Given the description of an element on the screen output the (x, y) to click on. 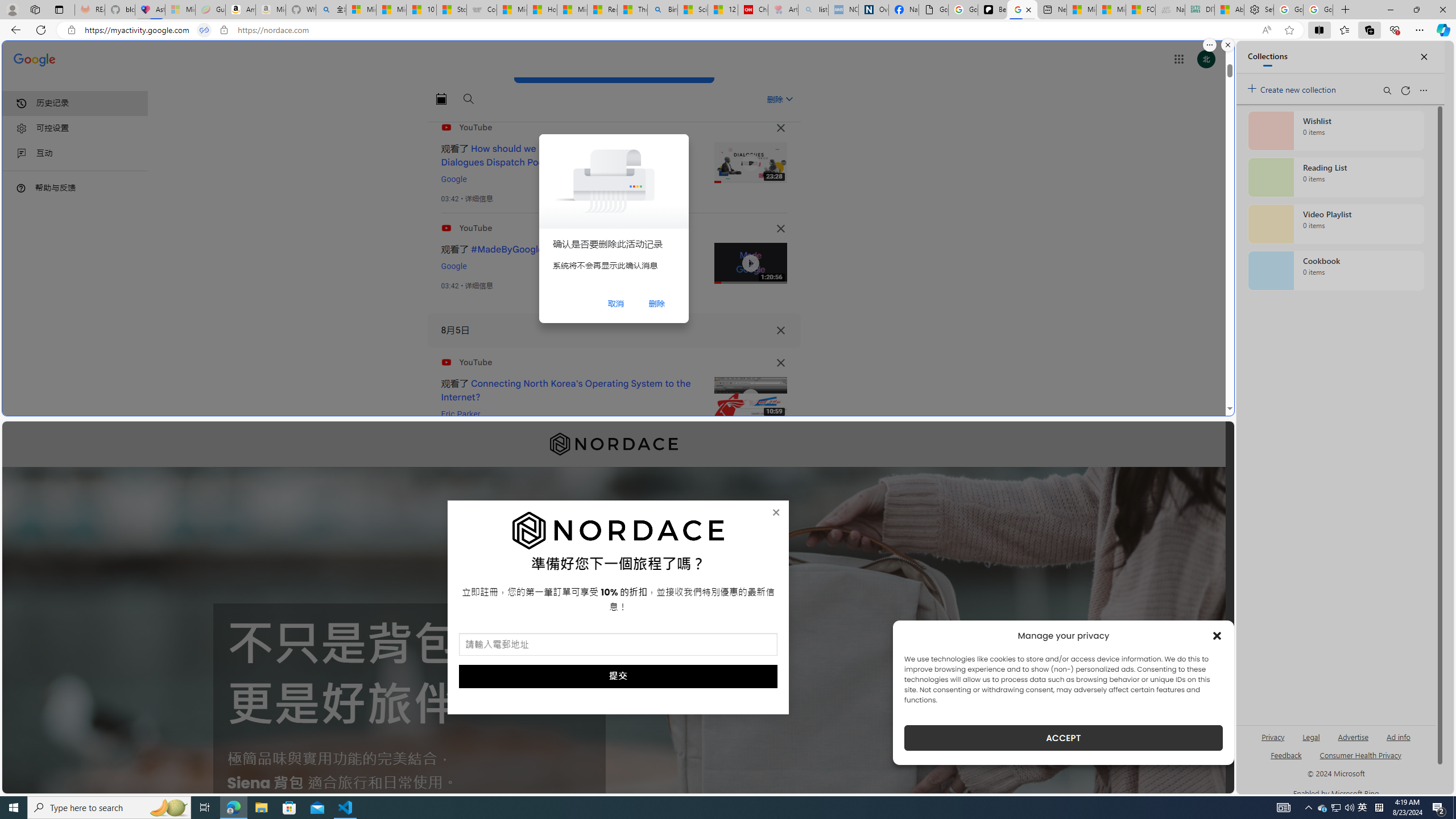
Arthritis: Ask Health Professionals - Sleeping (782, 9)
FOX News - MSN (1140, 9)
AutomationID: field_5_1 (617, 645)
